Given the description of an element on the screen output the (x, y) to click on. 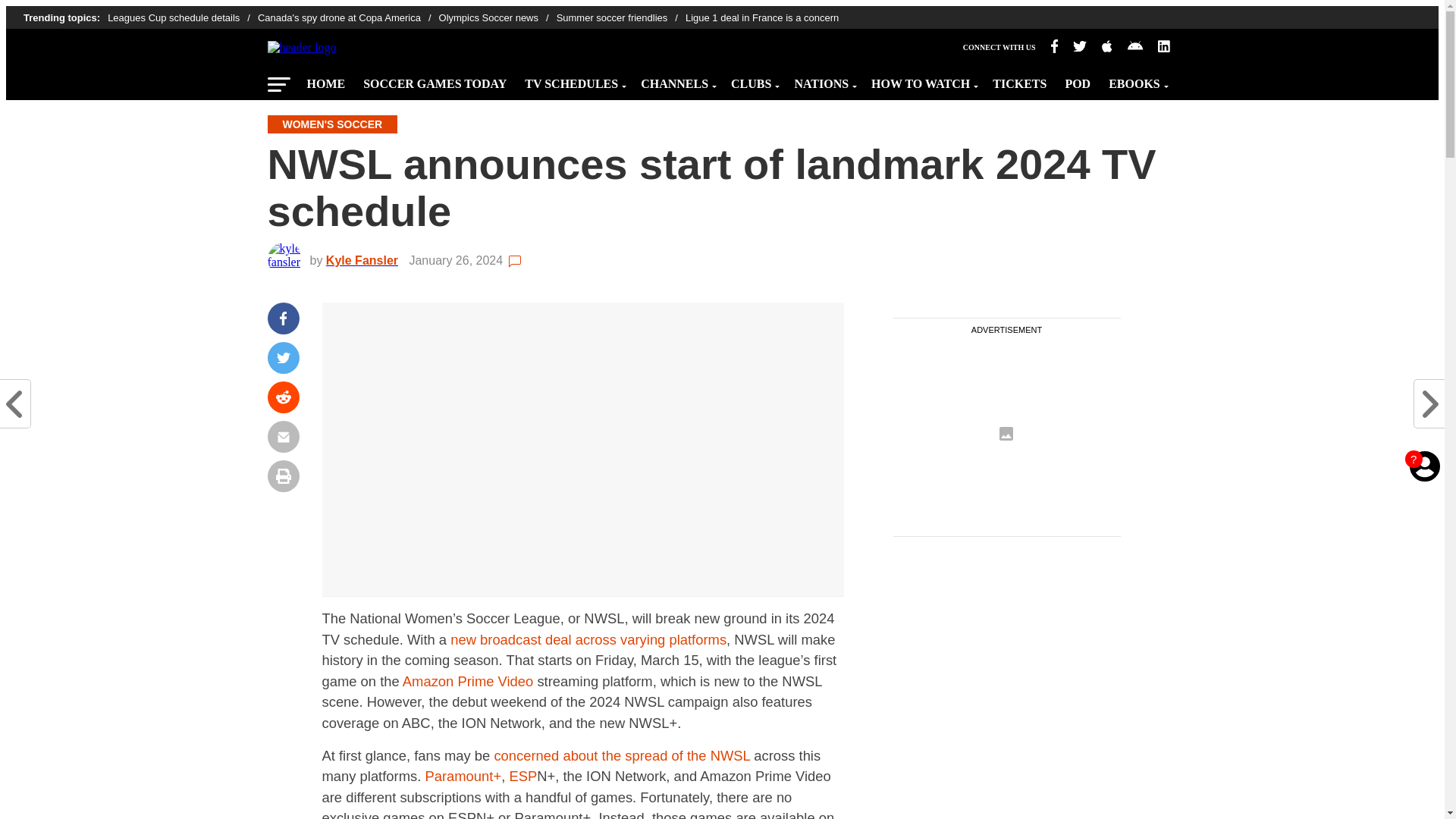
TV SCHEDULES (573, 80)
Leagues Cup schedule details (182, 17)
SOCCER GAMES TODAY (434, 80)
Canada's spy drone at Copa America (348, 17)
HOME (325, 80)
HOW TO WATCH (922, 80)
EBOOKS (1136, 80)
CHANNELS (676, 80)
ESP (522, 775)
TICKETS (1019, 80)
CLUBS (753, 80)
concerned about the spread of the NWSL (621, 755)
Summer soccer friendlies (620, 17)
Kyle Fansler (366, 259)
Amazon Prime Video (467, 681)
